Given the description of an element on the screen output the (x, y) to click on. 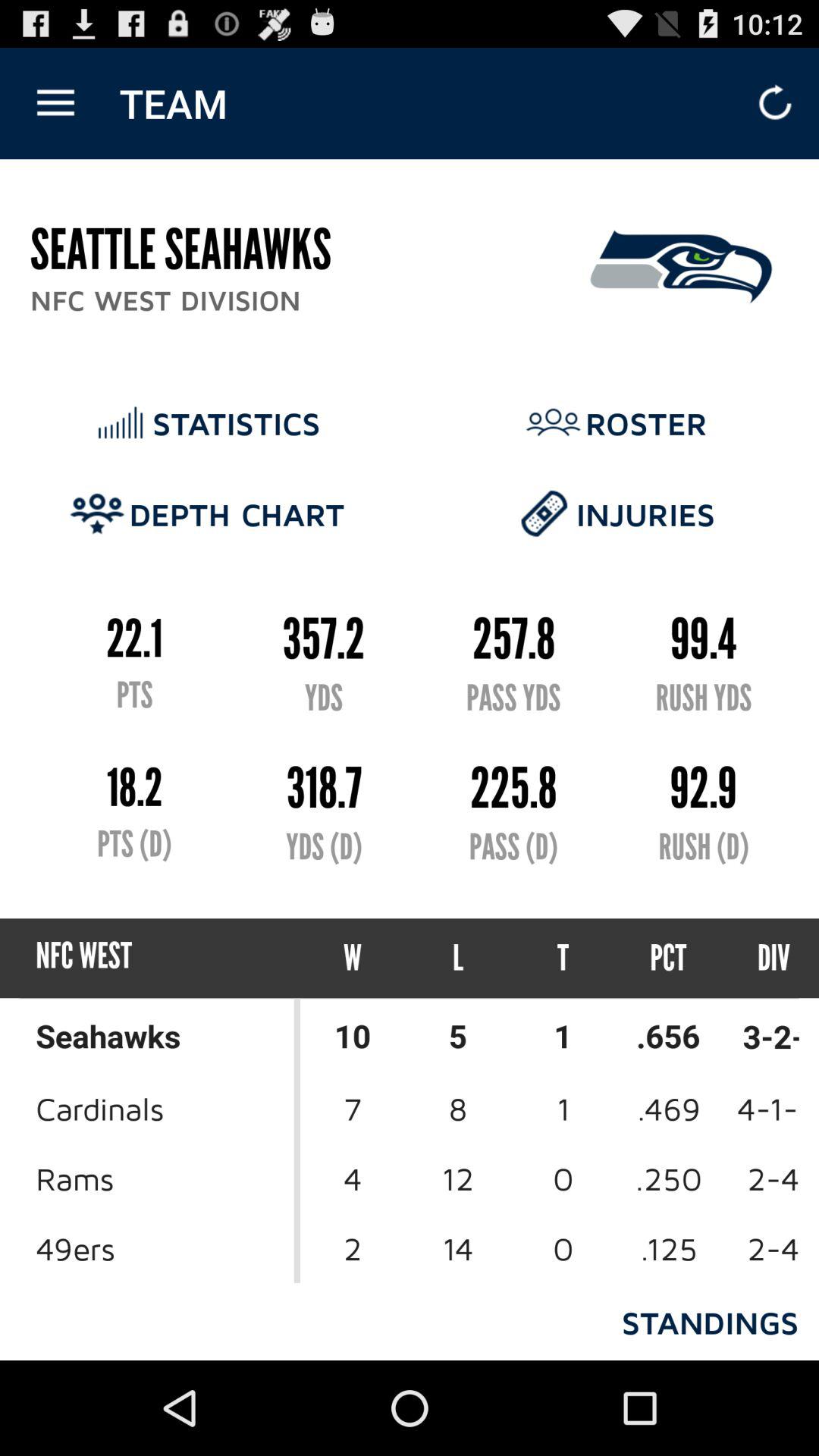
launch icon to the left of the t icon (457, 958)
